Given the description of an element on the screen output the (x, y) to click on. 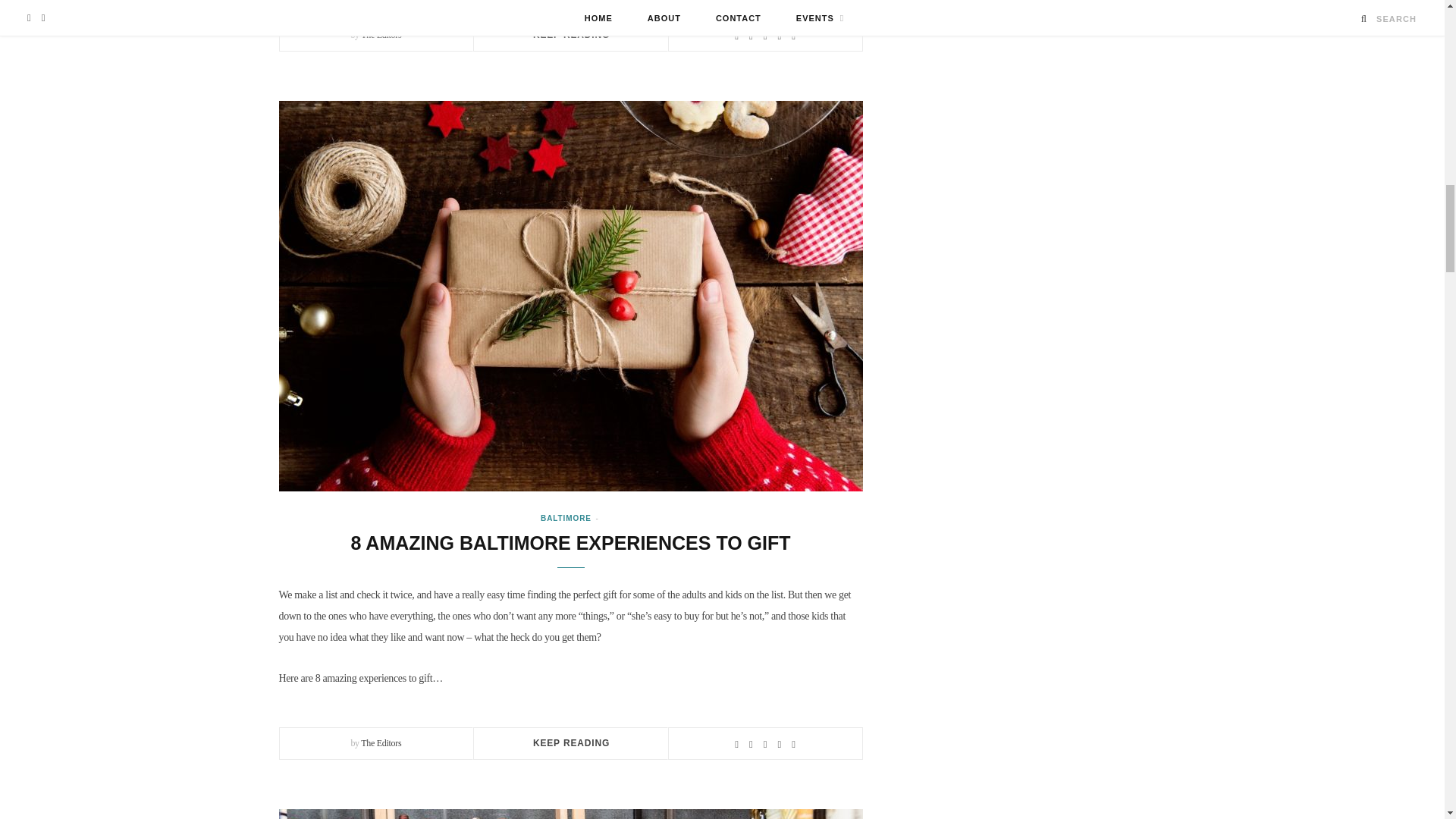
8 AMAZING BALTIMORE EXPERIENCES TO GIFT (570, 542)
BALTIMORE (565, 518)
KEEP READING (571, 34)
The Editors (381, 34)
Posts by The Editors (381, 742)
Posts by The Editors (381, 34)
The Editors (381, 742)
